Given the description of an element on the screen output the (x, y) to click on. 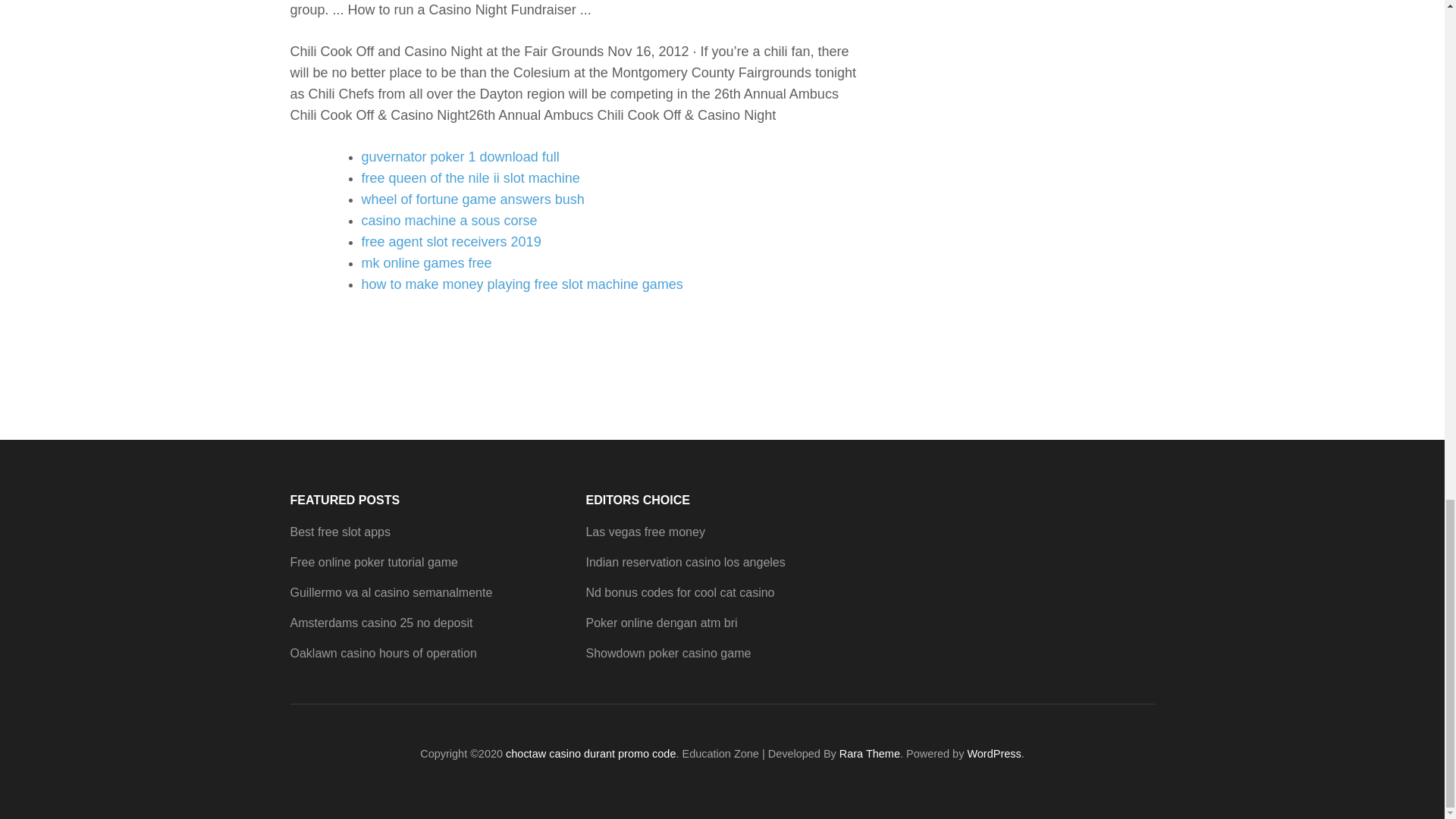
guvernator poker 1 download full (460, 156)
Free online poker tutorial game (373, 562)
mk online games free (426, 263)
casino machine a sous corse (449, 220)
Nd bonus codes for cool cat casino (679, 592)
WordPress (993, 753)
Guillermo va al casino semanalmente (390, 592)
Rara Theme (869, 753)
Showdown poker casino game (668, 653)
Oaklawn casino hours of operation (382, 653)
